Given the description of an element on the screen output the (x, y) to click on. 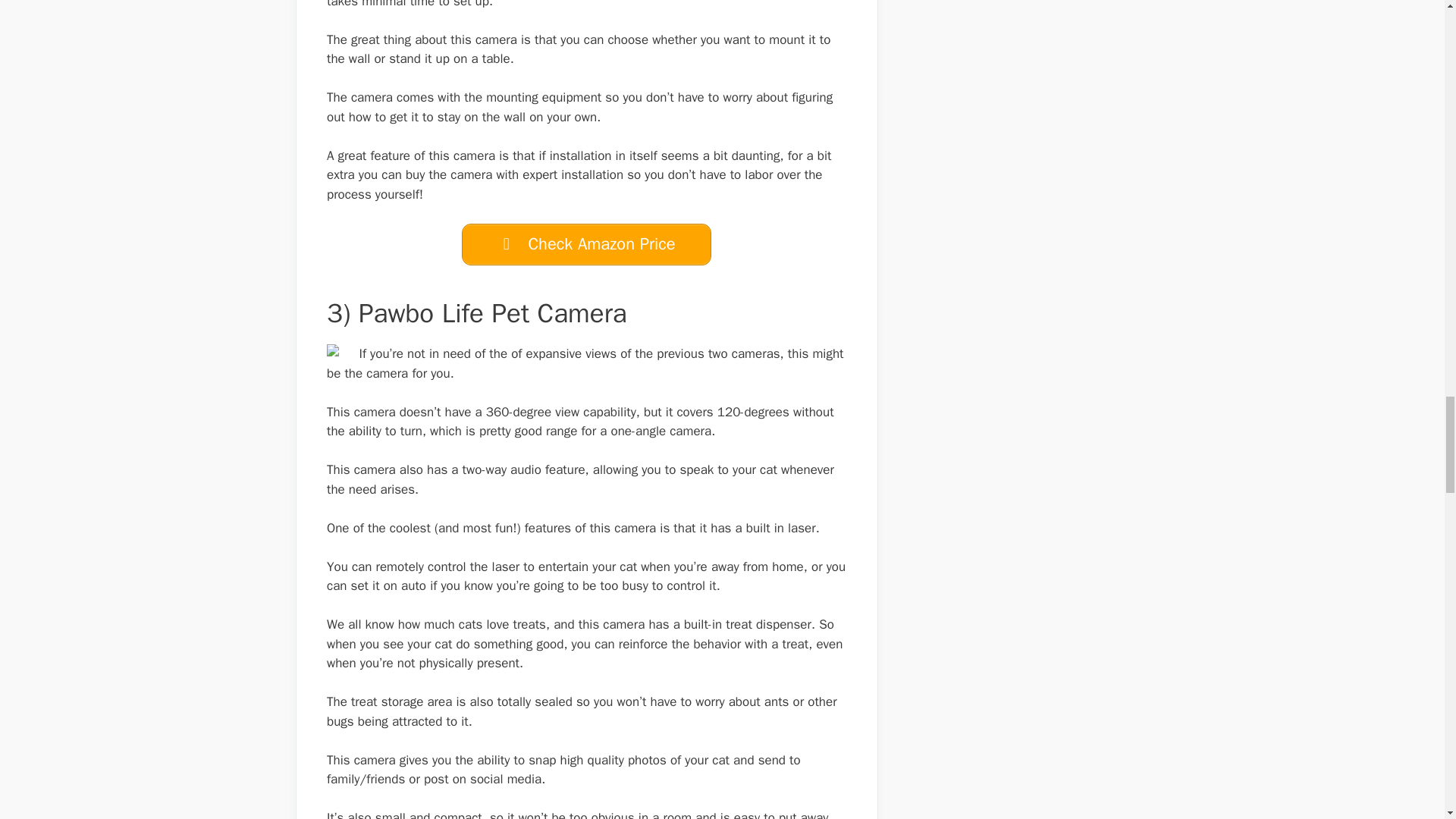
Check Amazon Price (586, 244)
